Given the description of an element on the screen output the (x, y) to click on. 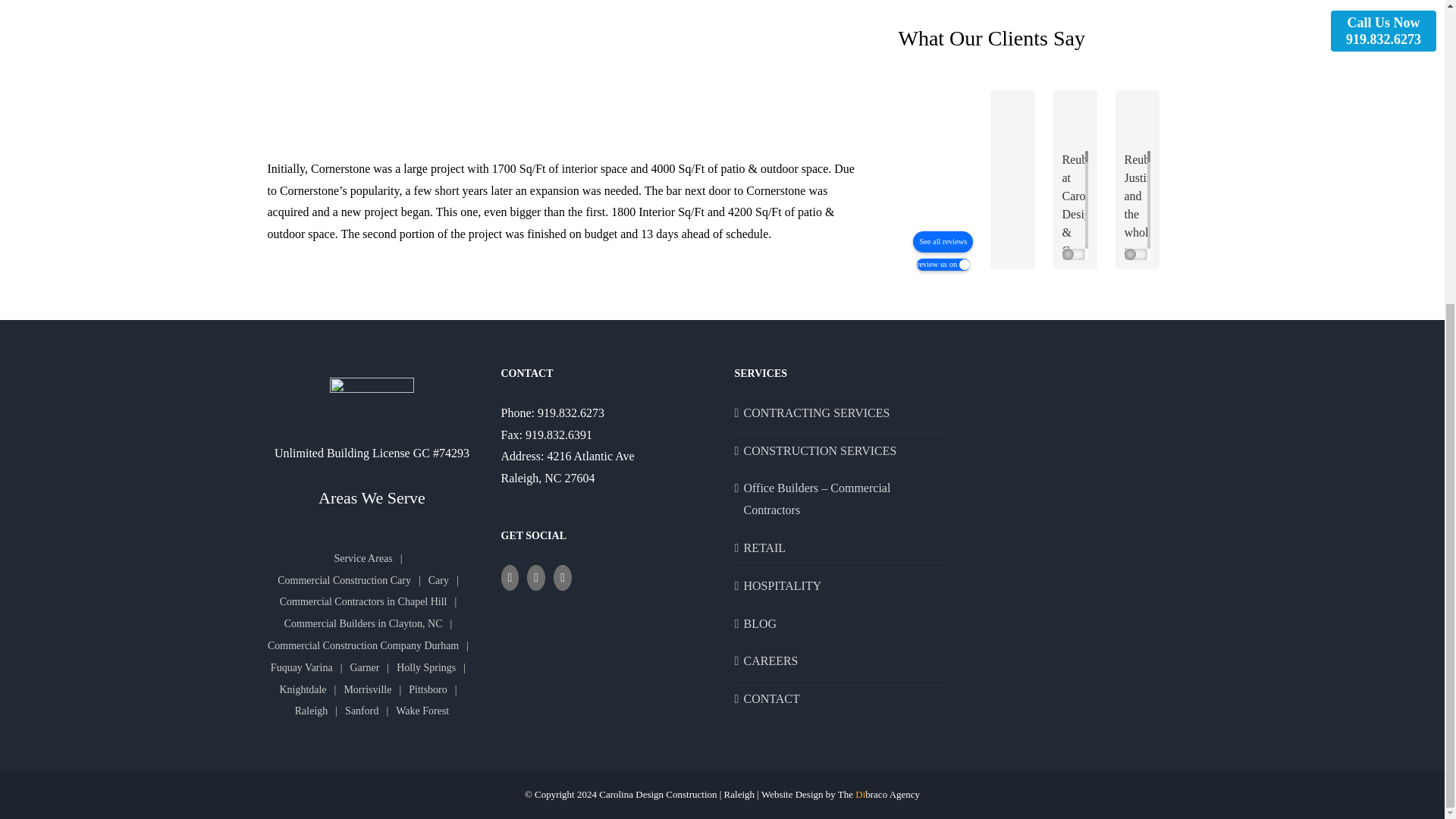
Byron Lopez (1018, 118)
Burrito Shak Cary (1205, 118)
Chase Riker (1143, 118)
Rachel Knopf (1331, 118)
Amber Howard (1268, 118)
a h (1392, 118)
Lora Neel (1080, 118)
See all reviews (942, 241)
